Given the description of an element on the screen output the (x, y) to click on. 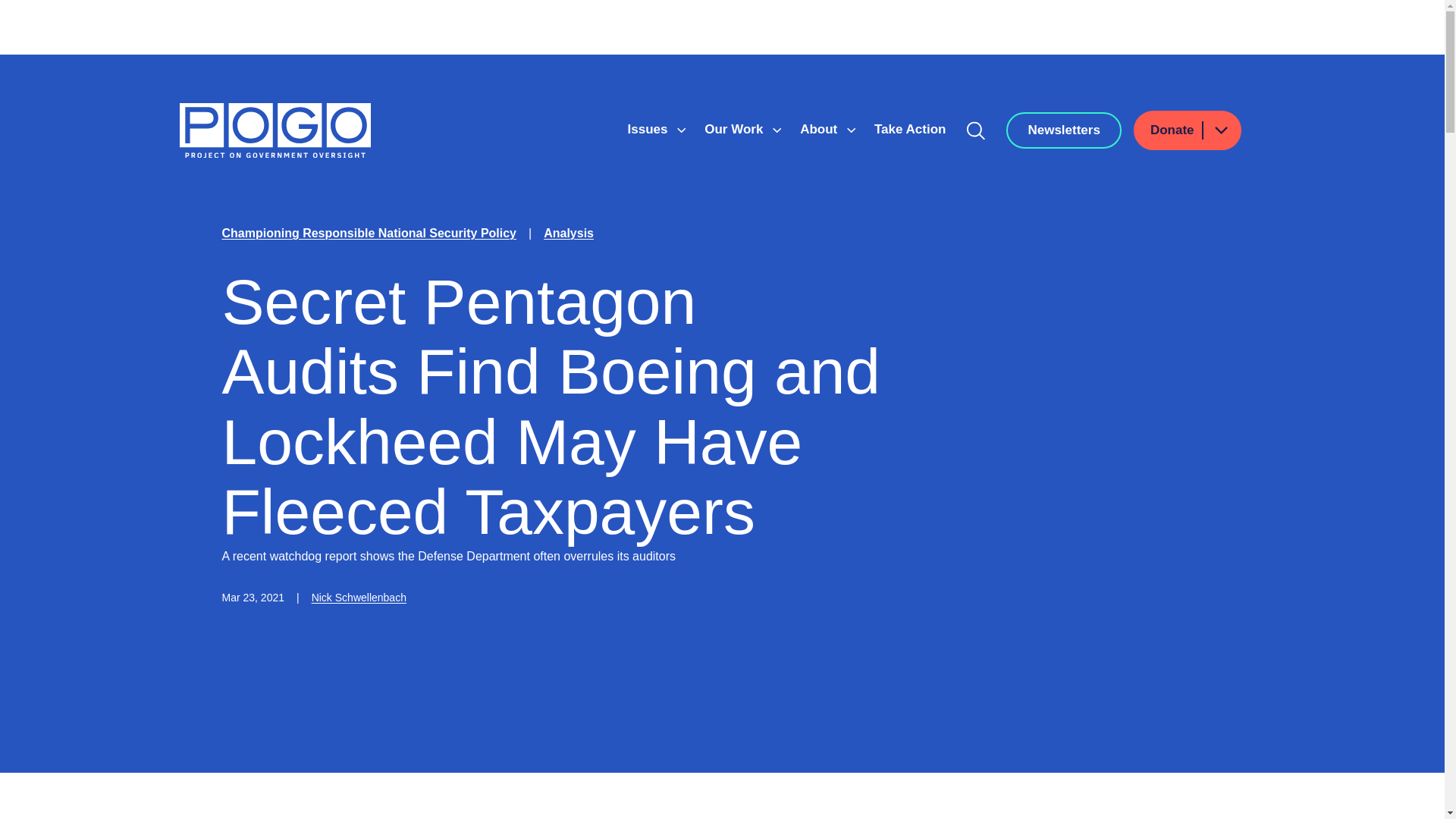
Our Work (735, 129)
Show submenu for Our Work (777, 130)
Take Action (909, 129)
Show submenu for Donate (1220, 129)
Home (274, 130)
About (820, 129)
Show submenu for About (851, 130)
Search (976, 130)
Newsletters (1063, 130)
Donate (1187, 130)
